Given the description of an element on the screen output the (x, y) to click on. 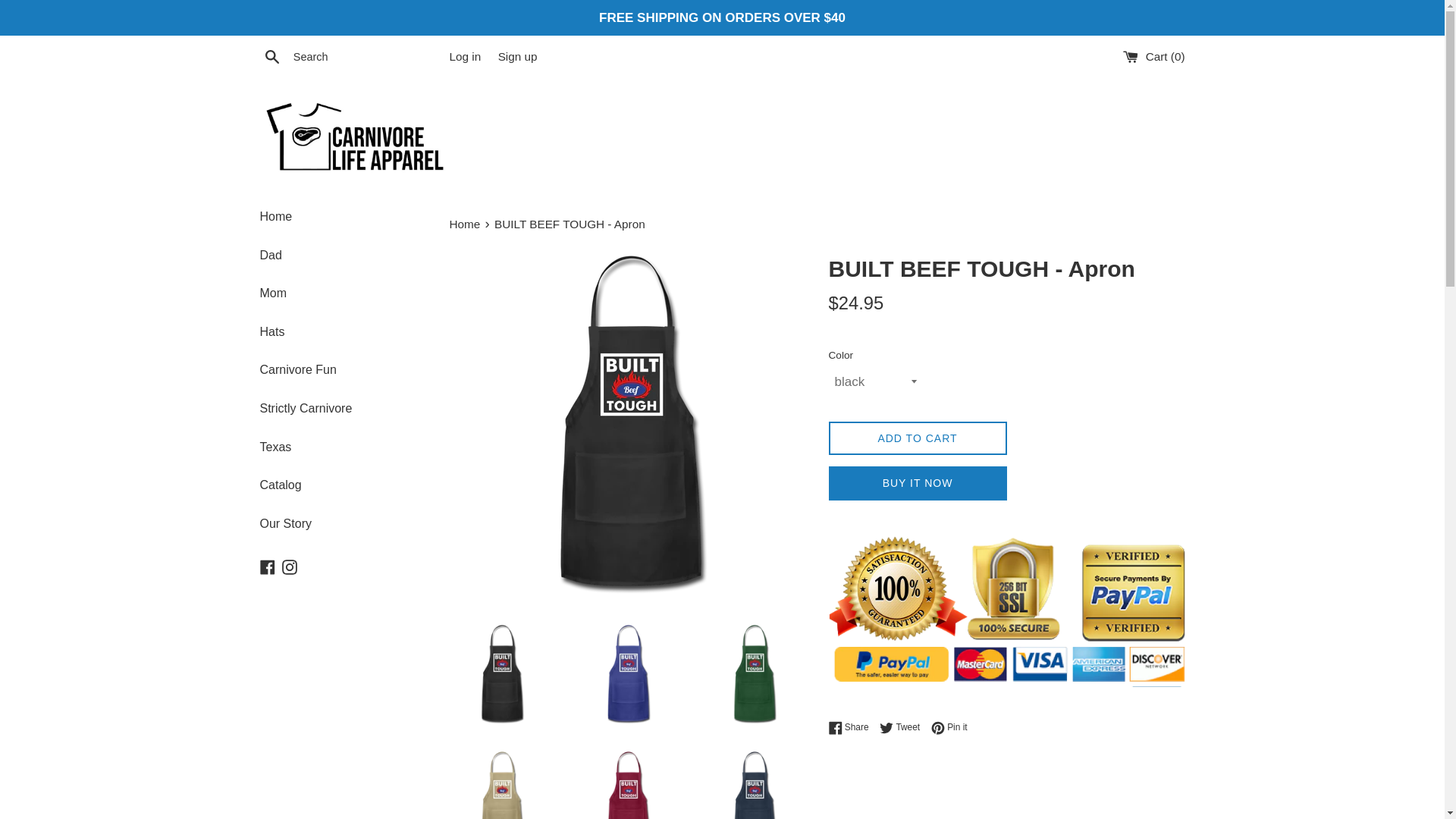
Instagram (949, 727)
Search (289, 565)
Carnivore Fun (271, 56)
Carnivore Life Apparel on Instagram (342, 370)
Sign up (289, 565)
ADD TO CART (517, 56)
Home (903, 727)
Mom (917, 438)
